Given the description of an element on the screen output the (x, y) to click on. 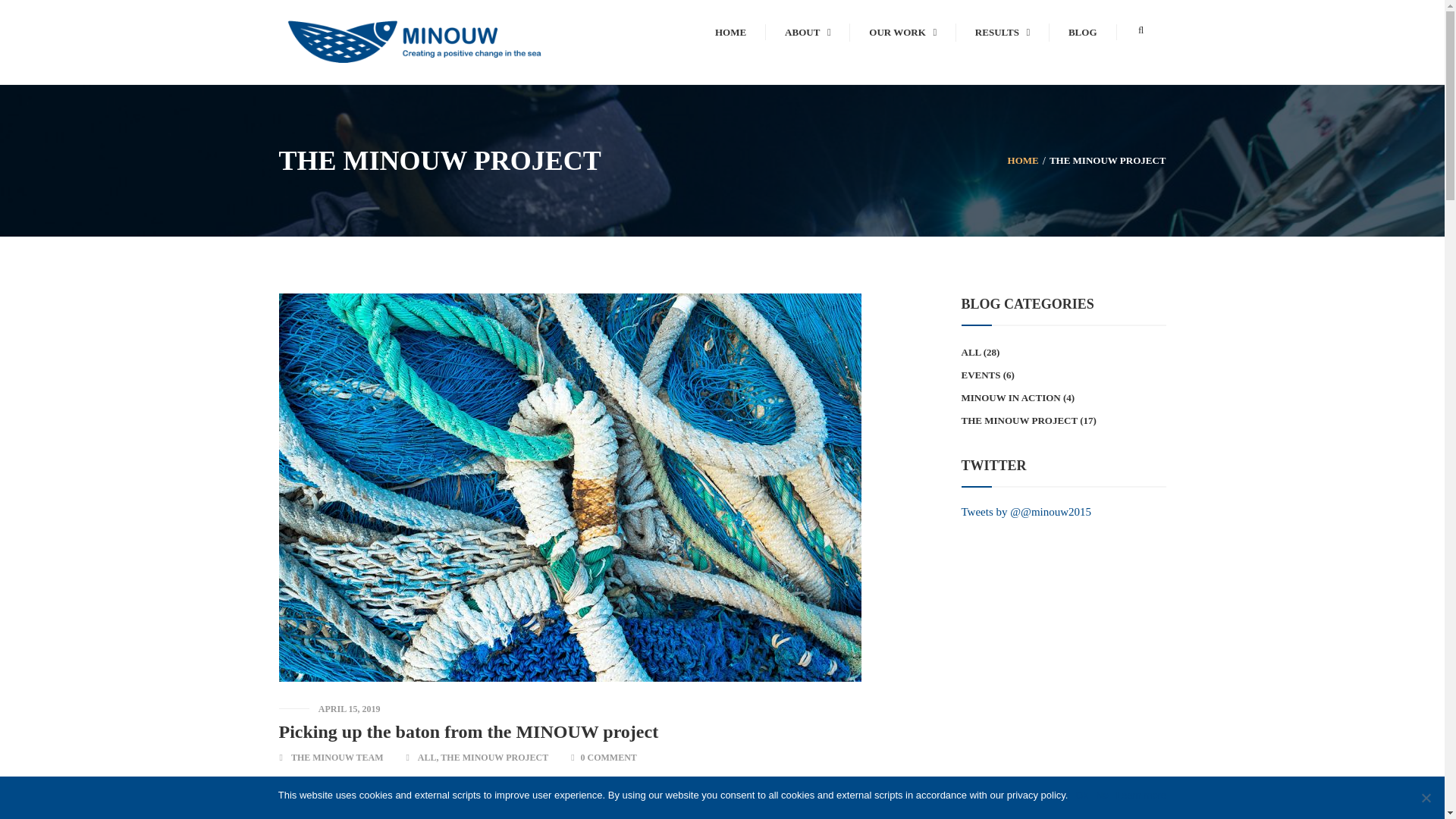
HOME (1023, 160)
THE MINOUW PROJECT (1107, 160)
Picking up the baton from the MINOUW project (469, 731)
No (1425, 797)
BLOG (1082, 32)
THE MINOUW TEAM (337, 757)
HOME (730, 32)
ALL (426, 757)
